Given the description of an element on the screen output the (x, y) to click on. 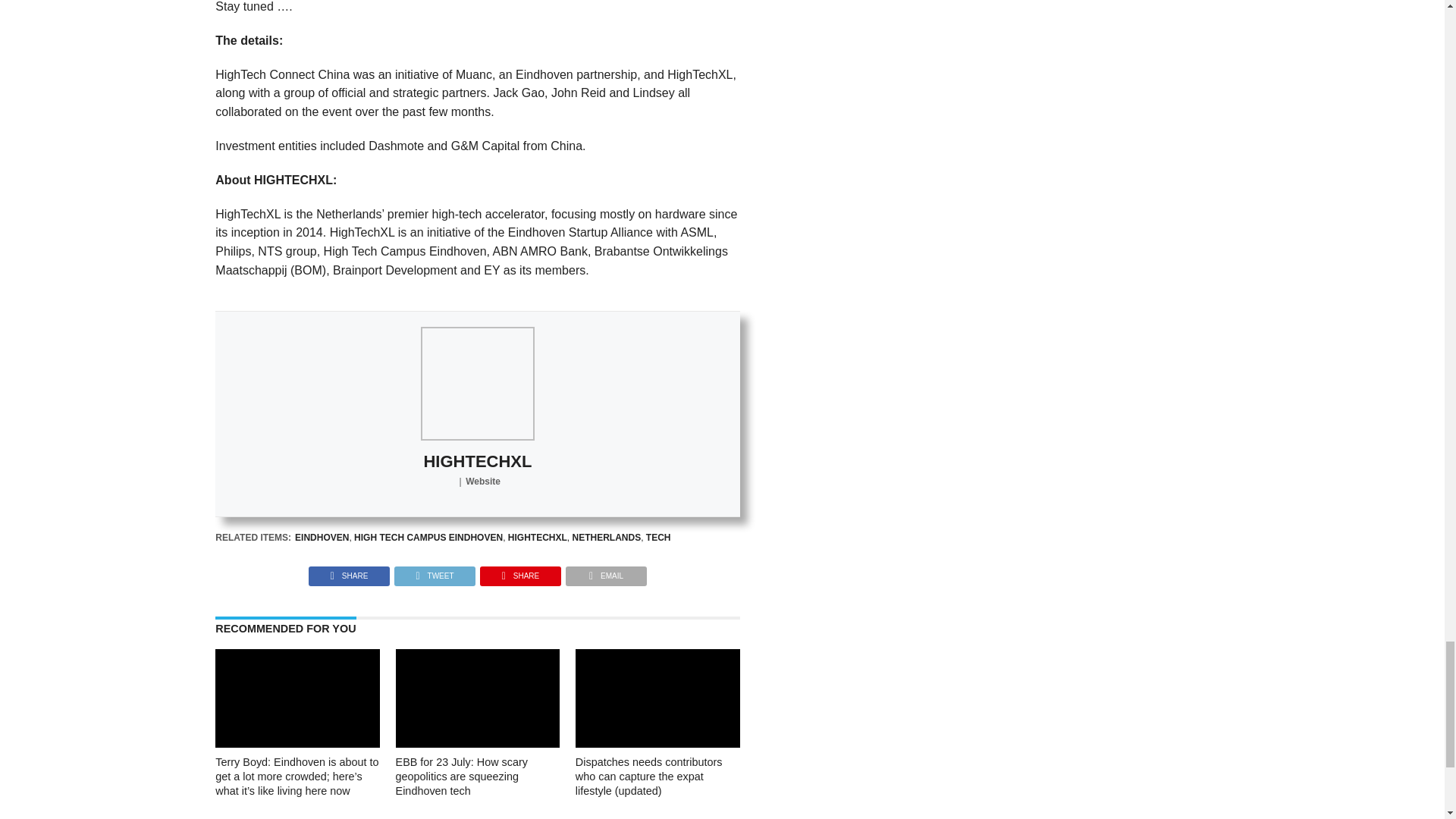
Tweet This Post (434, 571)
Share on Facebook (349, 571)
Pin This Post (520, 571)
